Given the description of an element on the screen output the (x, y) to click on. 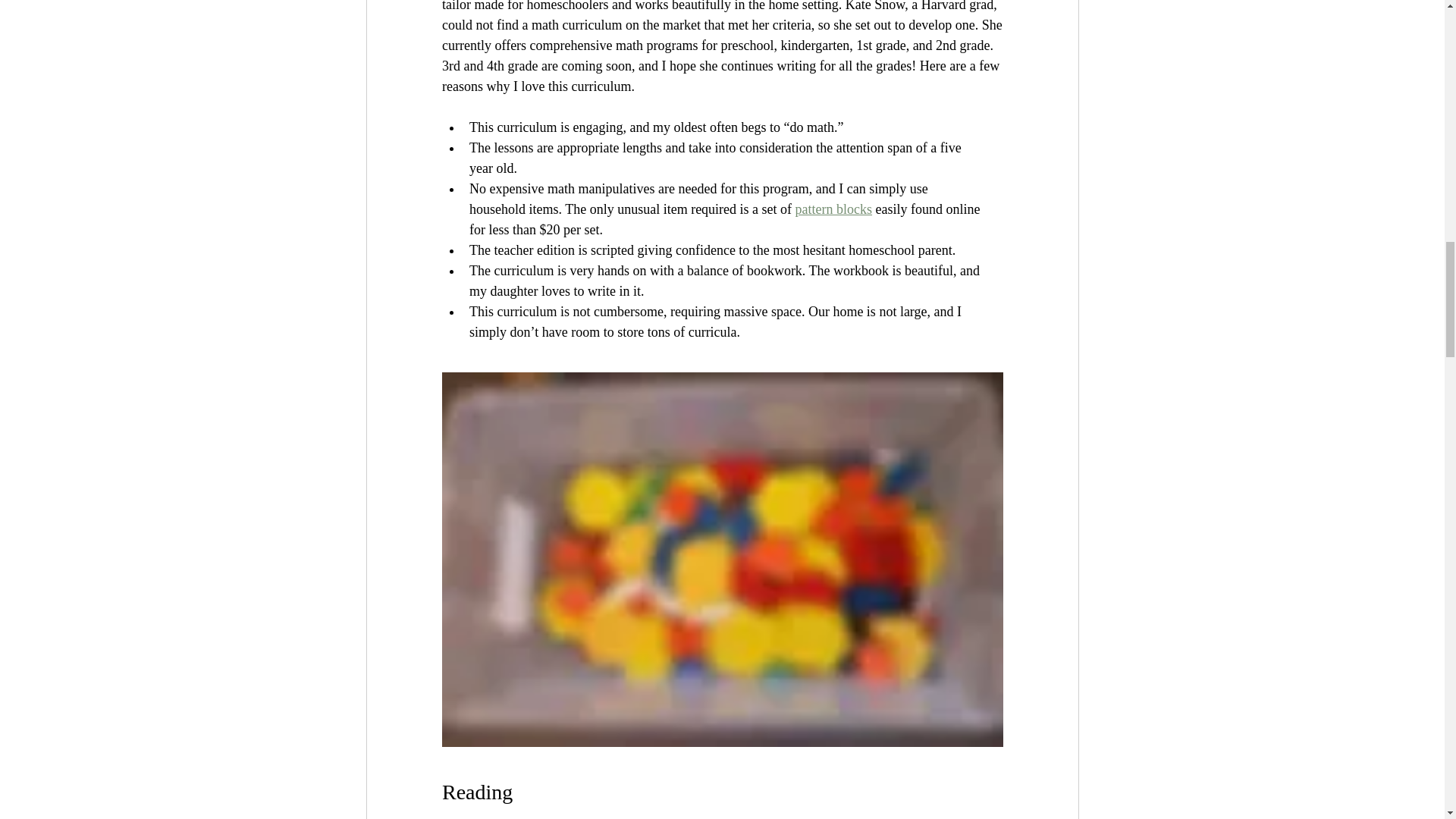
pattern blocks (832, 209)
